Given the description of an element on the screen output the (x, y) to click on. 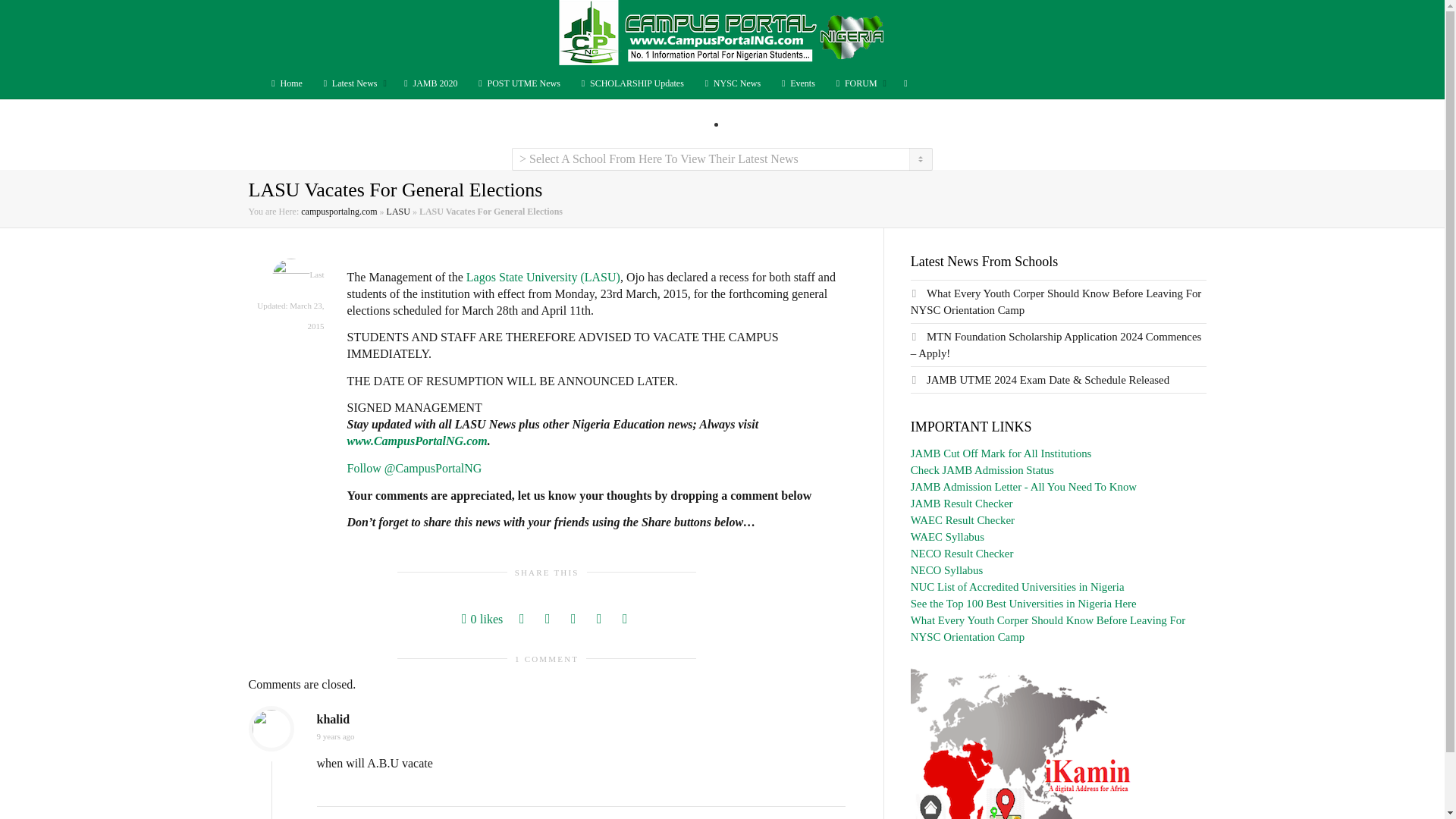
NECO Syllabus (946, 570)
LASU (398, 211)
View all POSTS by CampusPortalNGStaff2 (291, 276)
Check JAMB Admission Status (982, 469)
Campus Portal Nigeria (721, 32)
SCHOLARSHIP Updates (631, 82)
Latest NYSC Updates (730, 82)
Latest JAMB News (429, 82)
JAMB 2020 (429, 82)
WAEC Syllabus (947, 536)
